Given the description of an element on the screen output the (x, y) to click on. 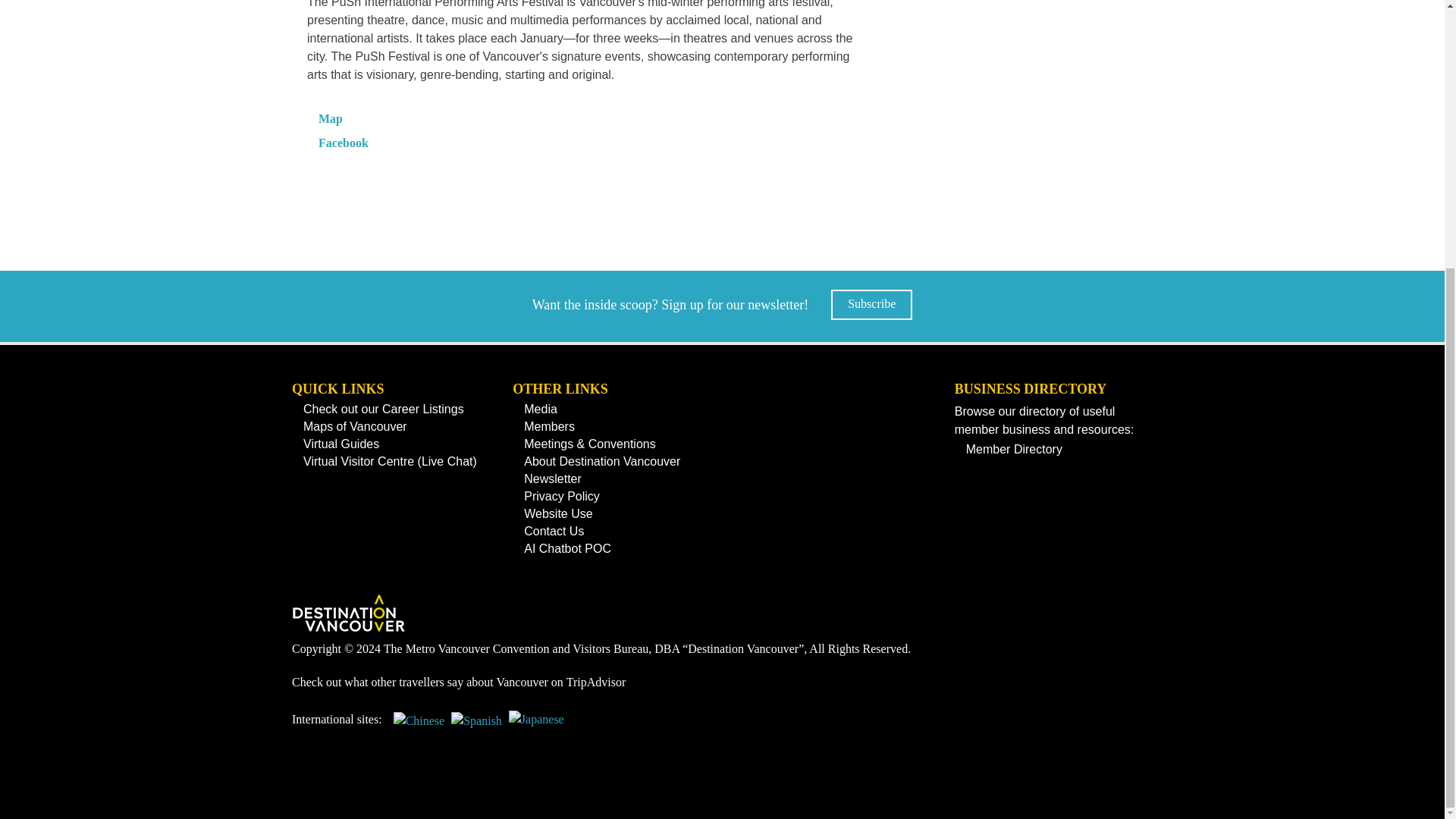
Spanish (476, 726)
Japanese (536, 726)
Chinese (419, 726)
